Given the description of an element on the screen output the (x, y) to click on. 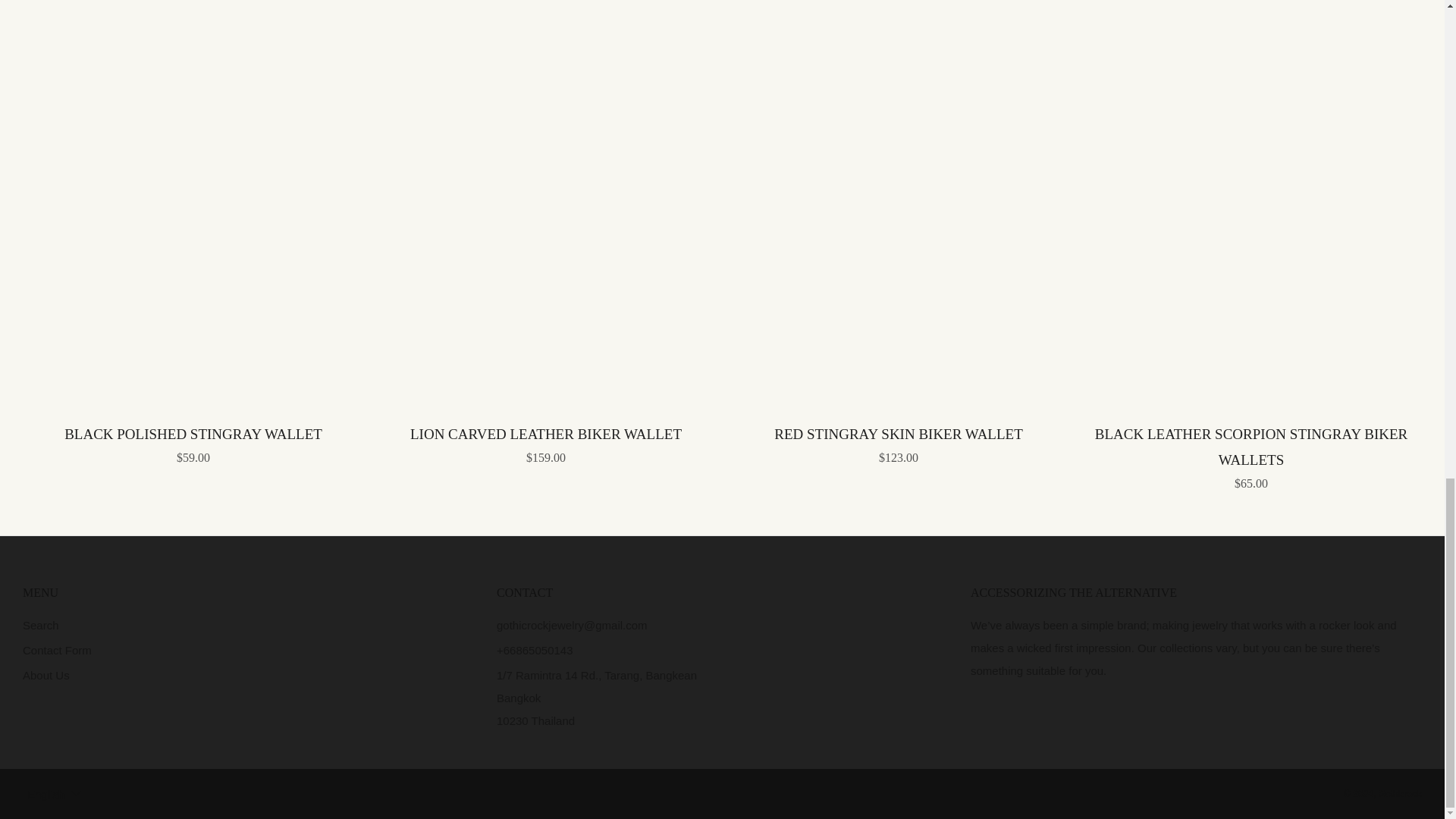
Red Stingray Skin Biker Wallet (898, 442)
Black Polished Stingray Wallet (193, 442)
Lion Carved Leather Biker Wallet (545, 442)
Black Leather Scorpion Stingray Biker Wallets (1251, 455)
